Given the description of an element on the screen output the (x, y) to click on. 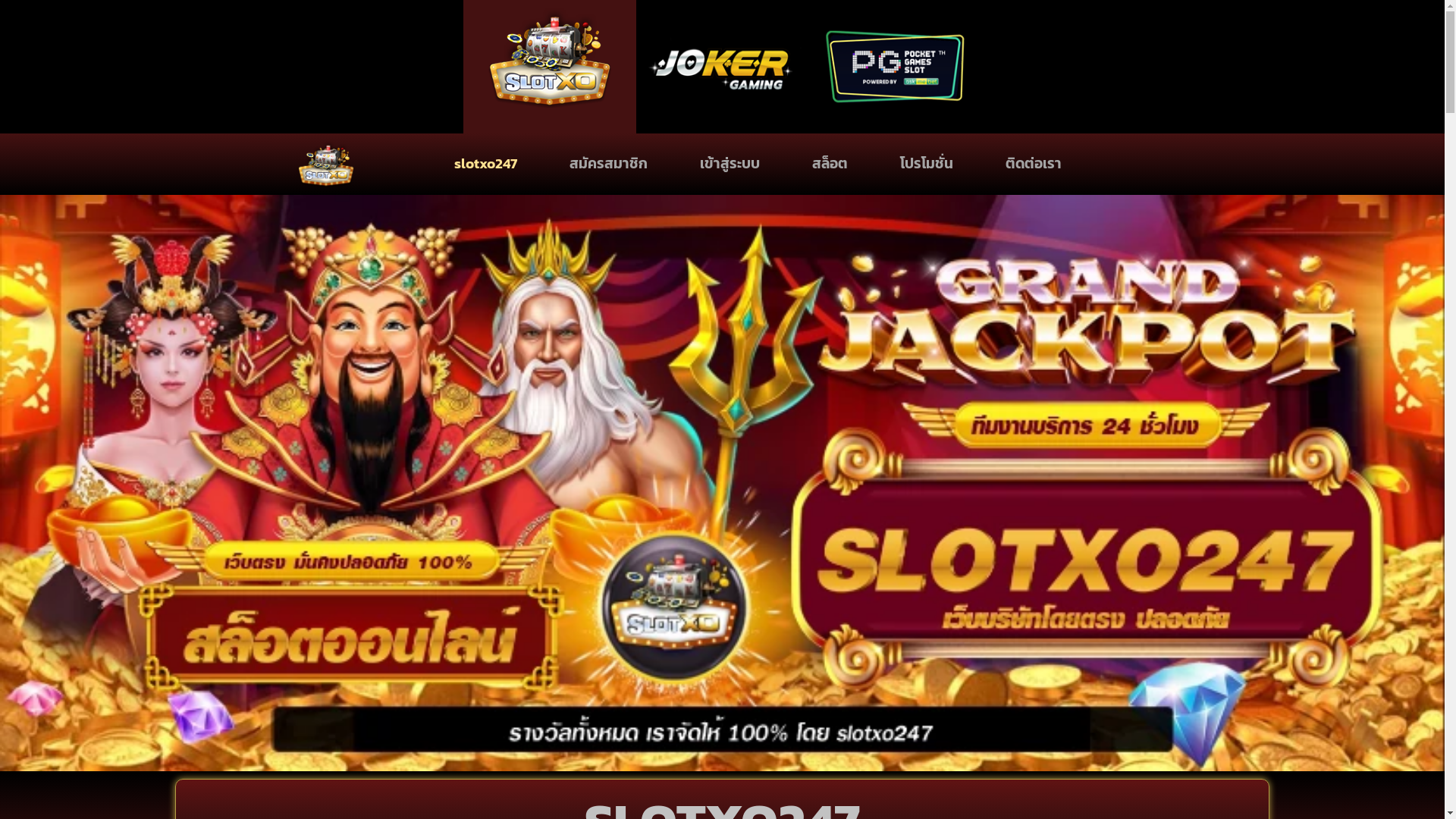
slotxo247 Element type: text (485, 163)
